Given the description of an element on the screen output the (x, y) to click on. 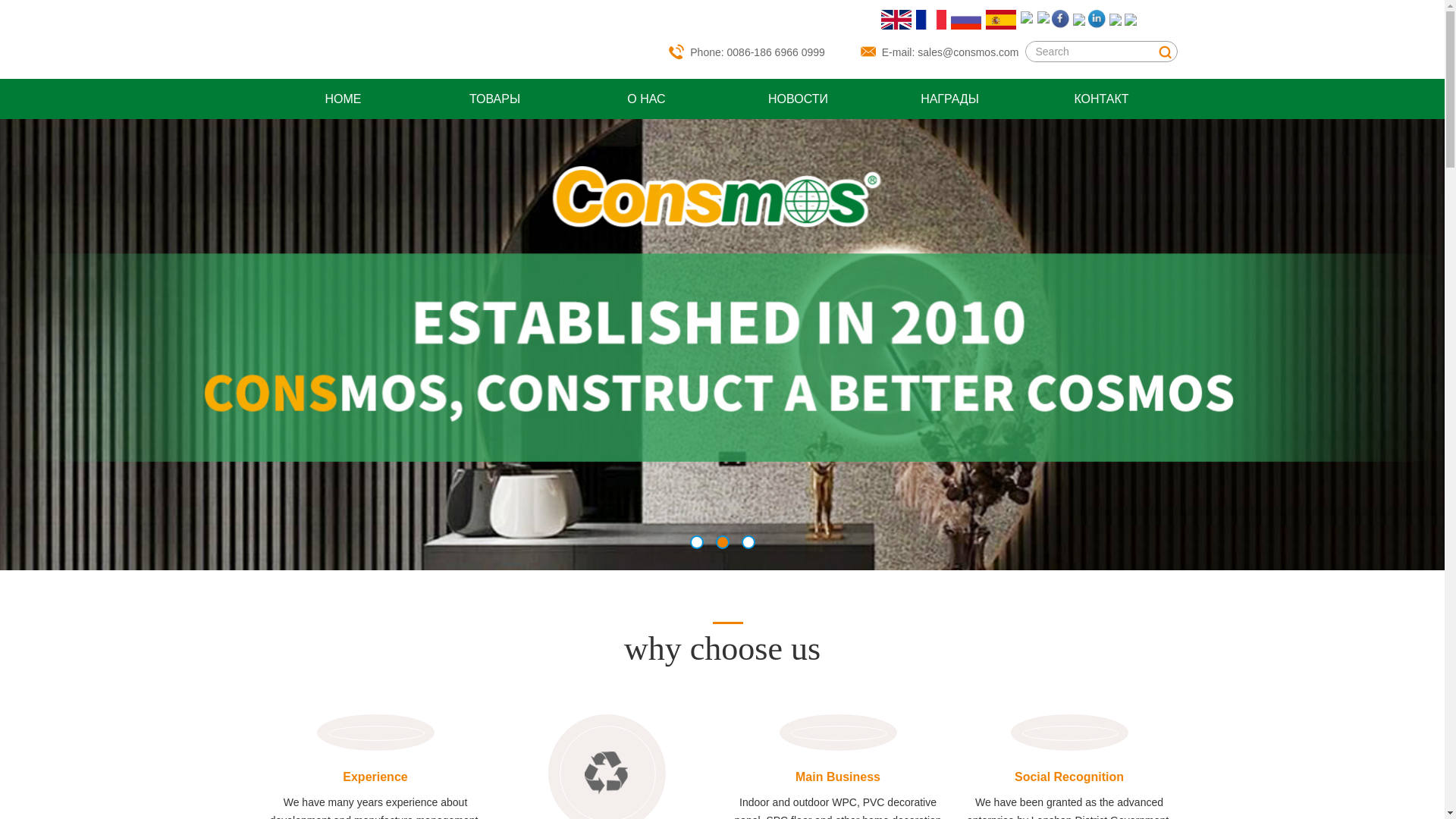
HOME Element type: text (342, 98)
sales@consmos.com Element type: text (967, 52)
Experience Element type: text (374, 777)
why choose us Element type: text (721, 644)
2 Element type: text (722, 542)
1 Element type: text (696, 542)
Main Business Element type: text (837, 777)
3 Element type: text (748, 542)
Social Recognition Element type: text (1069, 777)
